Given the description of an element on the screen output the (x, y) to click on. 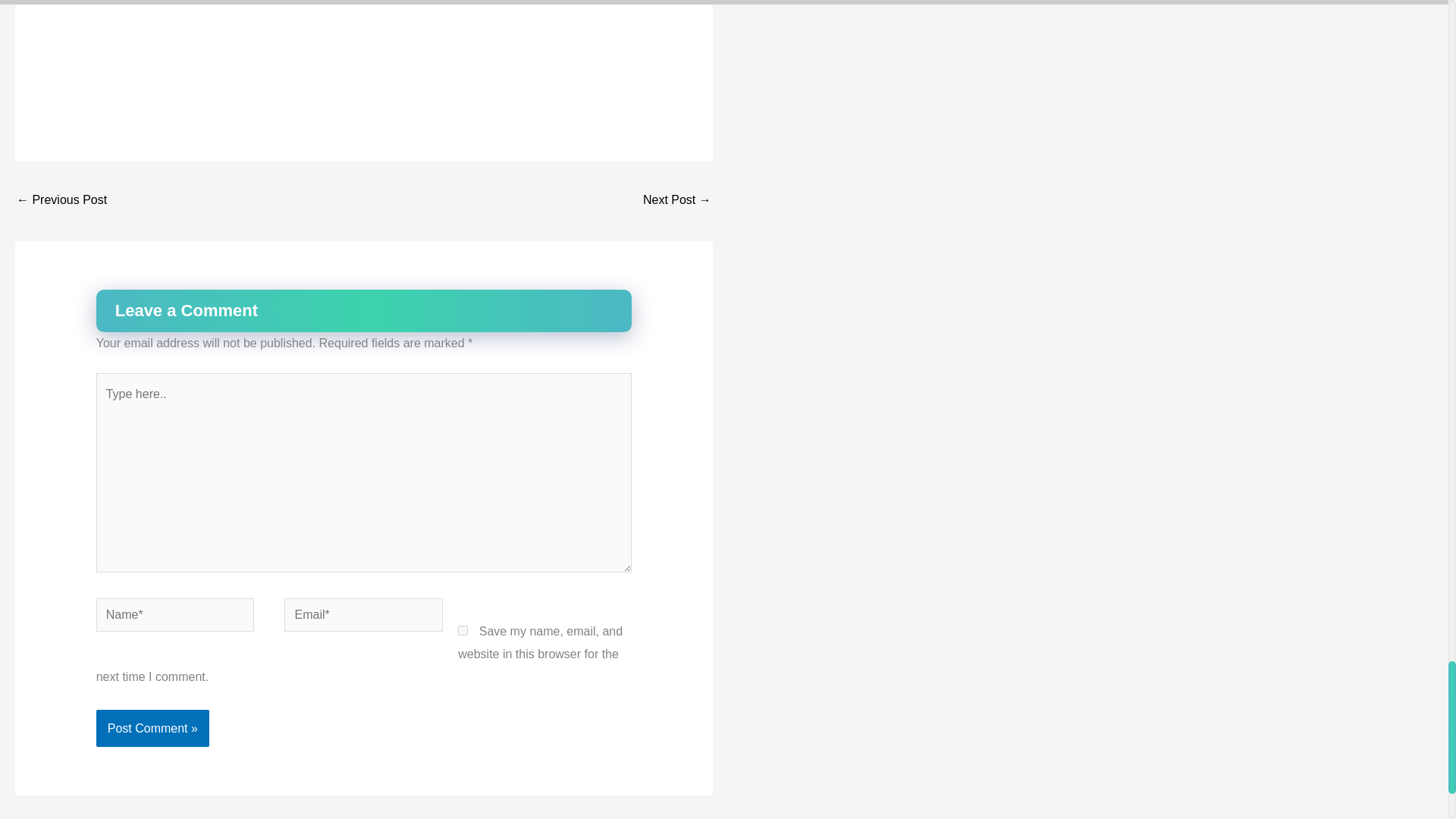
Emma Tall Biography (677, 201)
yes (462, 630)
Zafirova Kristina Biography (61, 201)
